Given the description of an element on the screen output the (x, y) to click on. 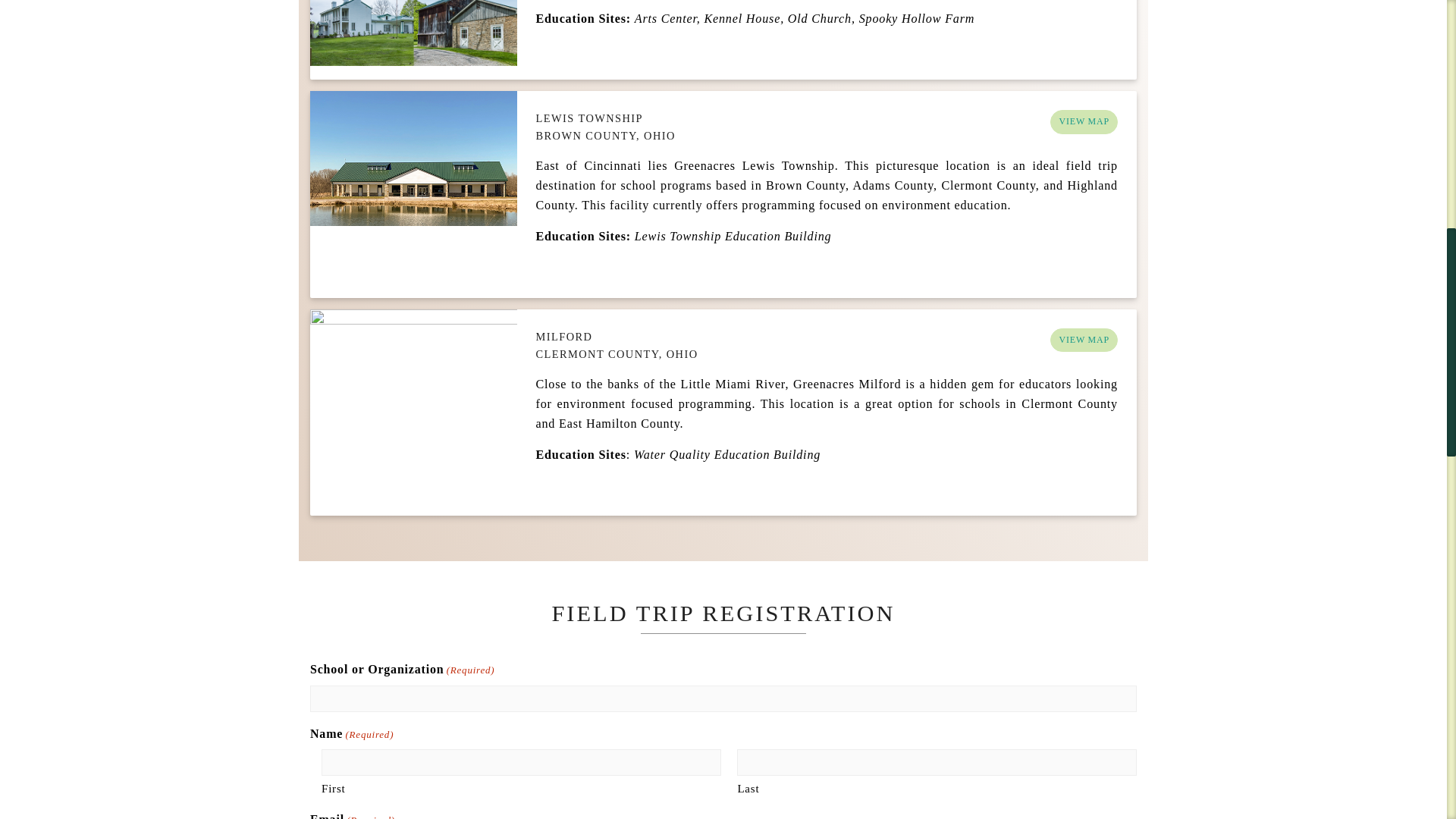
lt-building-500x500 (413, 194)
ih-placeholder (413, 40)
water-quality-building (413, 412)
Go to top (1408, 22)
